Given the description of an element on the screen output the (x, y) to click on. 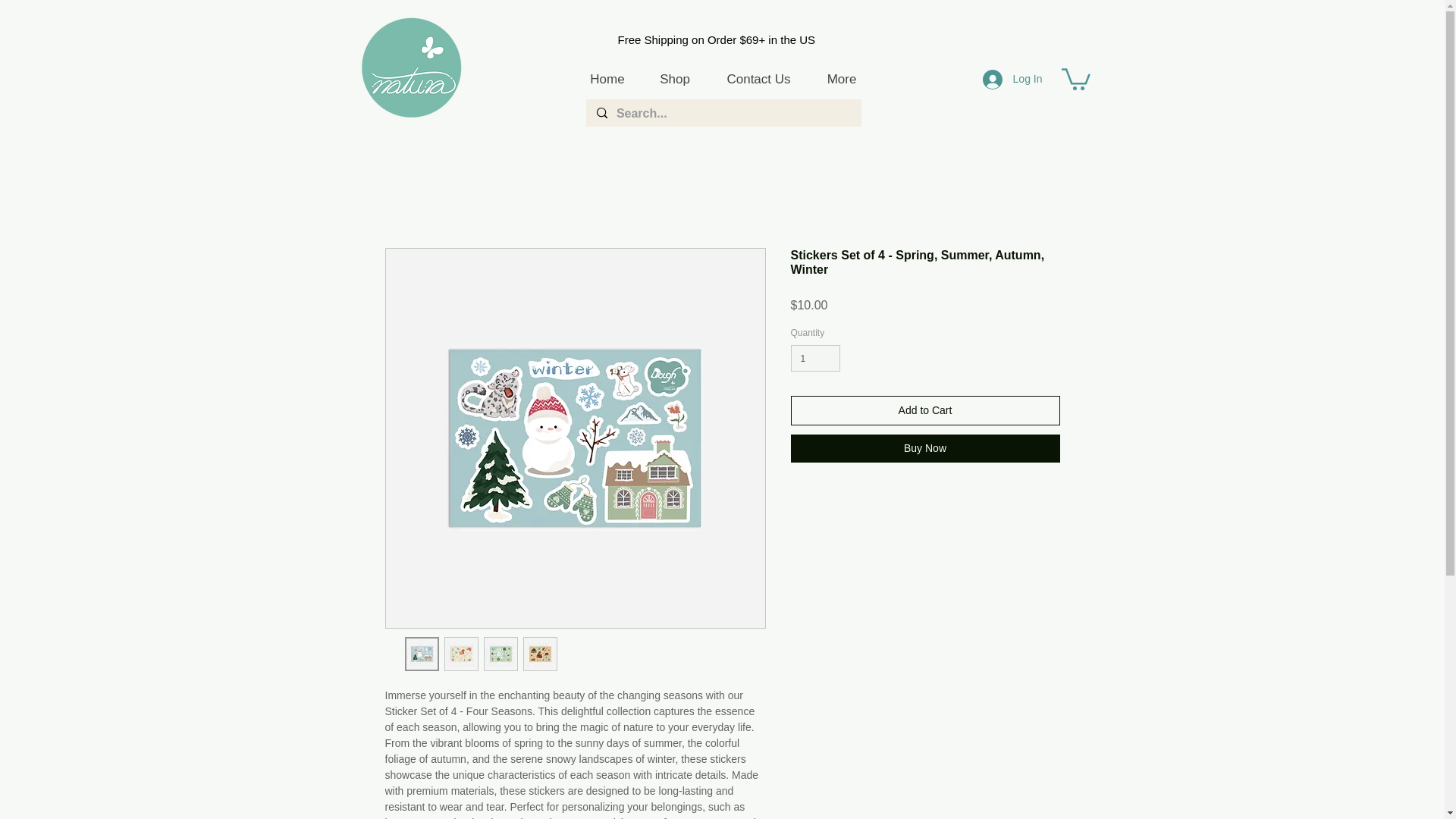
Contact Us (757, 78)
Buy Now (924, 448)
Home (607, 78)
Add to Cart (924, 410)
Log In (1012, 79)
1 (815, 357)
Shop (675, 78)
